Given the description of an element on the screen output the (x, y) to click on. 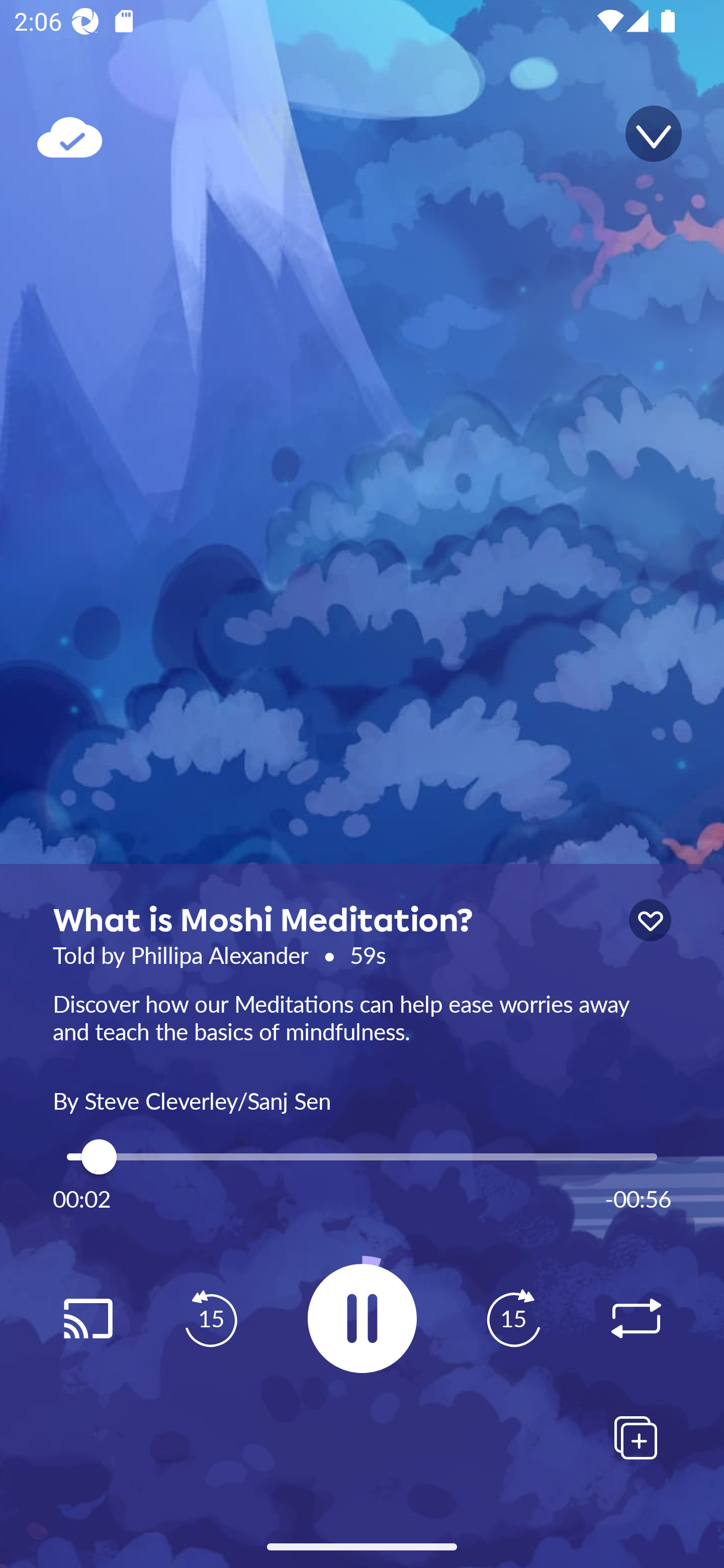
lock icon (650, 920)
By Steve Cleverley/Sanj Sen (361, 1098)
0.049084745 Pause (361, 1317)
Replay (87, 1318)
Replay 15 (210, 1318)
Replay 15 (513, 1318)
Replay (635, 1318)
Add To Playlists (635, 1437)
